Given the description of an element on the screen output the (x, y) to click on. 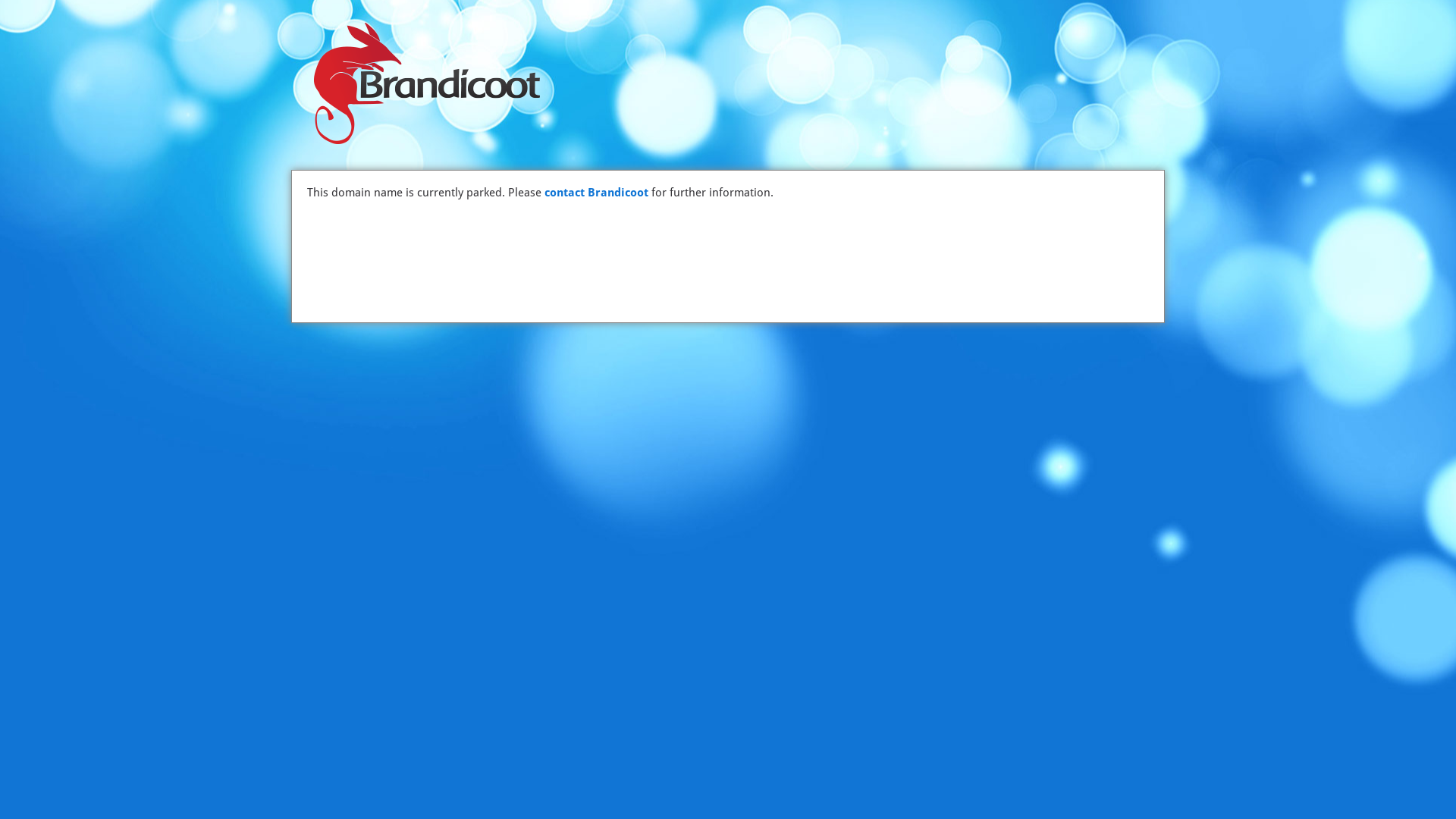
contact Brandicoot Element type: text (596, 192)
